Given the description of an element on the screen output the (x, y) to click on. 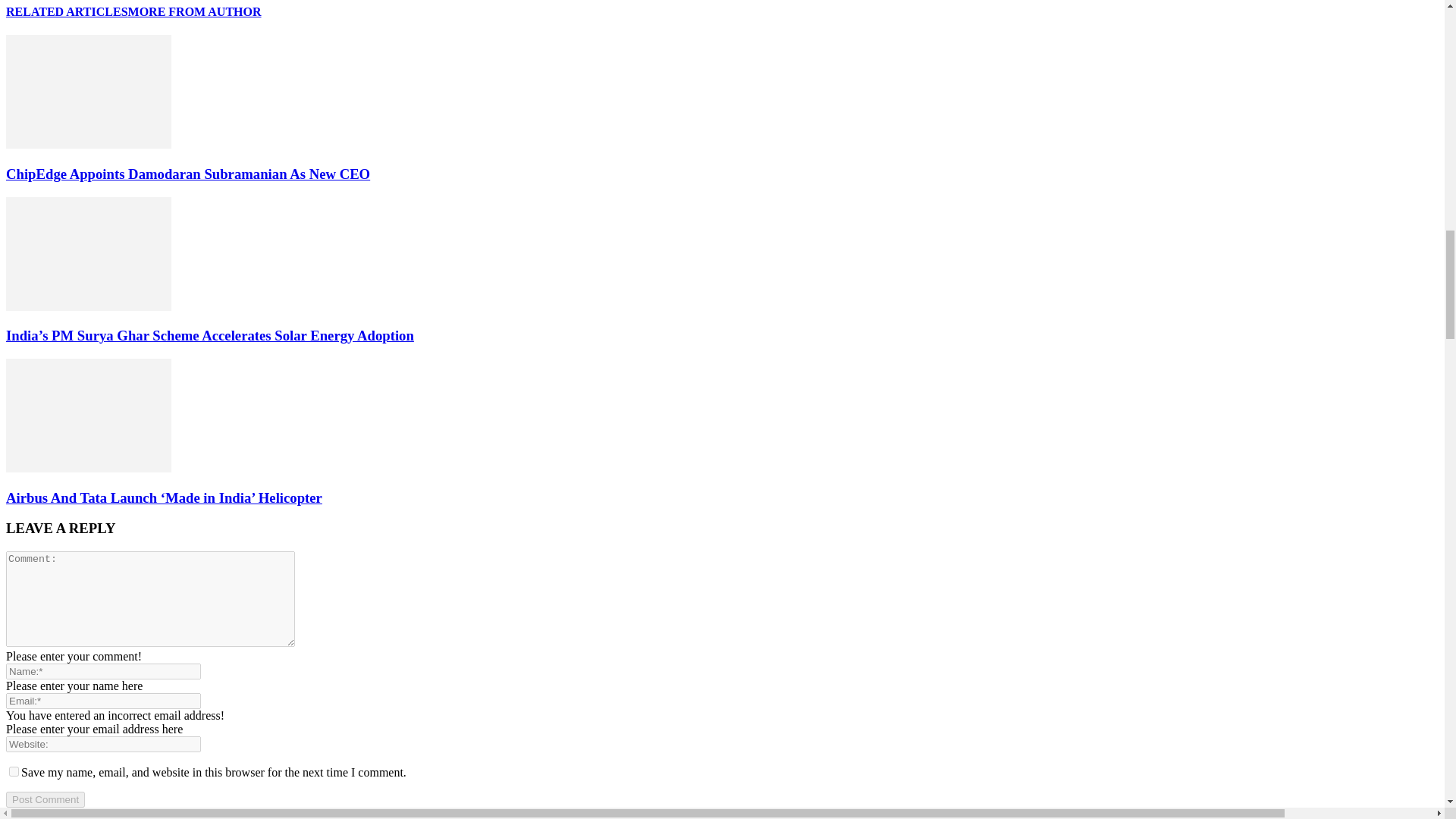
yes (13, 771)
Post Comment (44, 799)
